Given the description of an element on the screen output the (x, y) to click on. 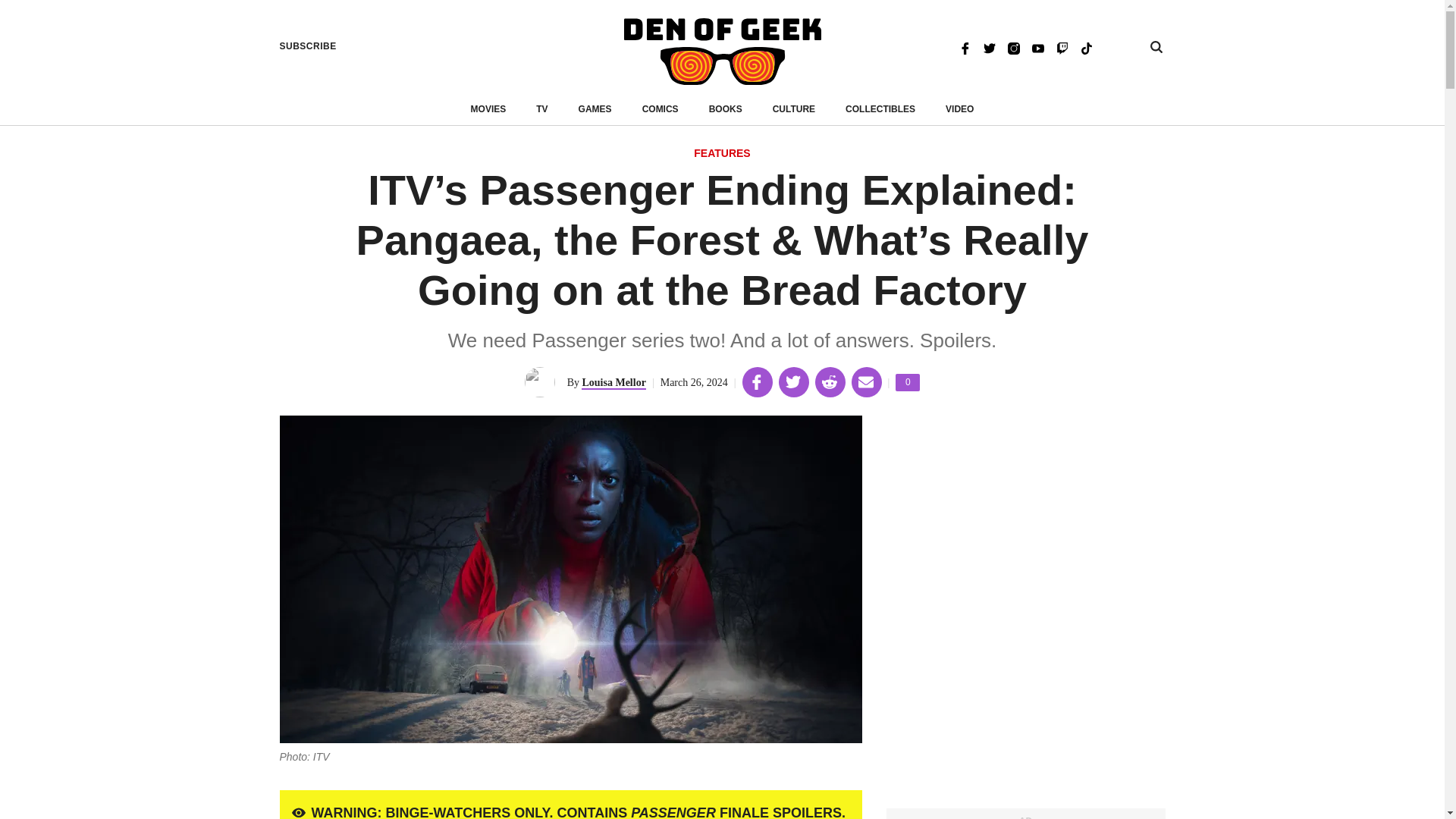
Twitter (988, 46)
VIDEO (959, 109)
Twitch (1061, 46)
BOOKS (725, 109)
Instagram (1013, 46)
COLLECTIBLES (907, 382)
FEATURES (880, 109)
COMICS (721, 153)
GAMES (660, 109)
